Given the description of an element on the screen output the (x, y) to click on. 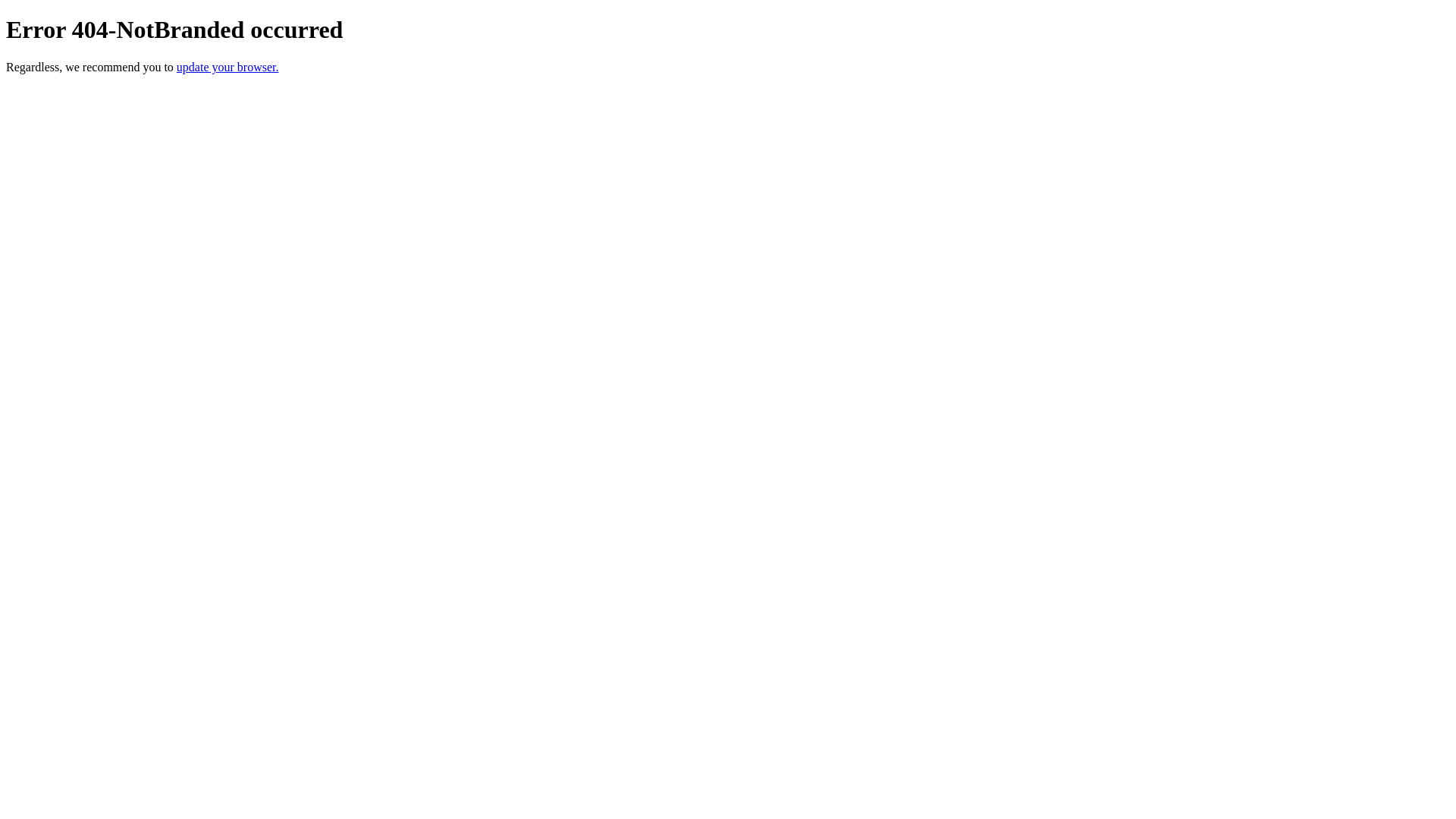
update your browser. Element type: text (227, 66)
